Given the description of an element on the screen output the (x, y) to click on. 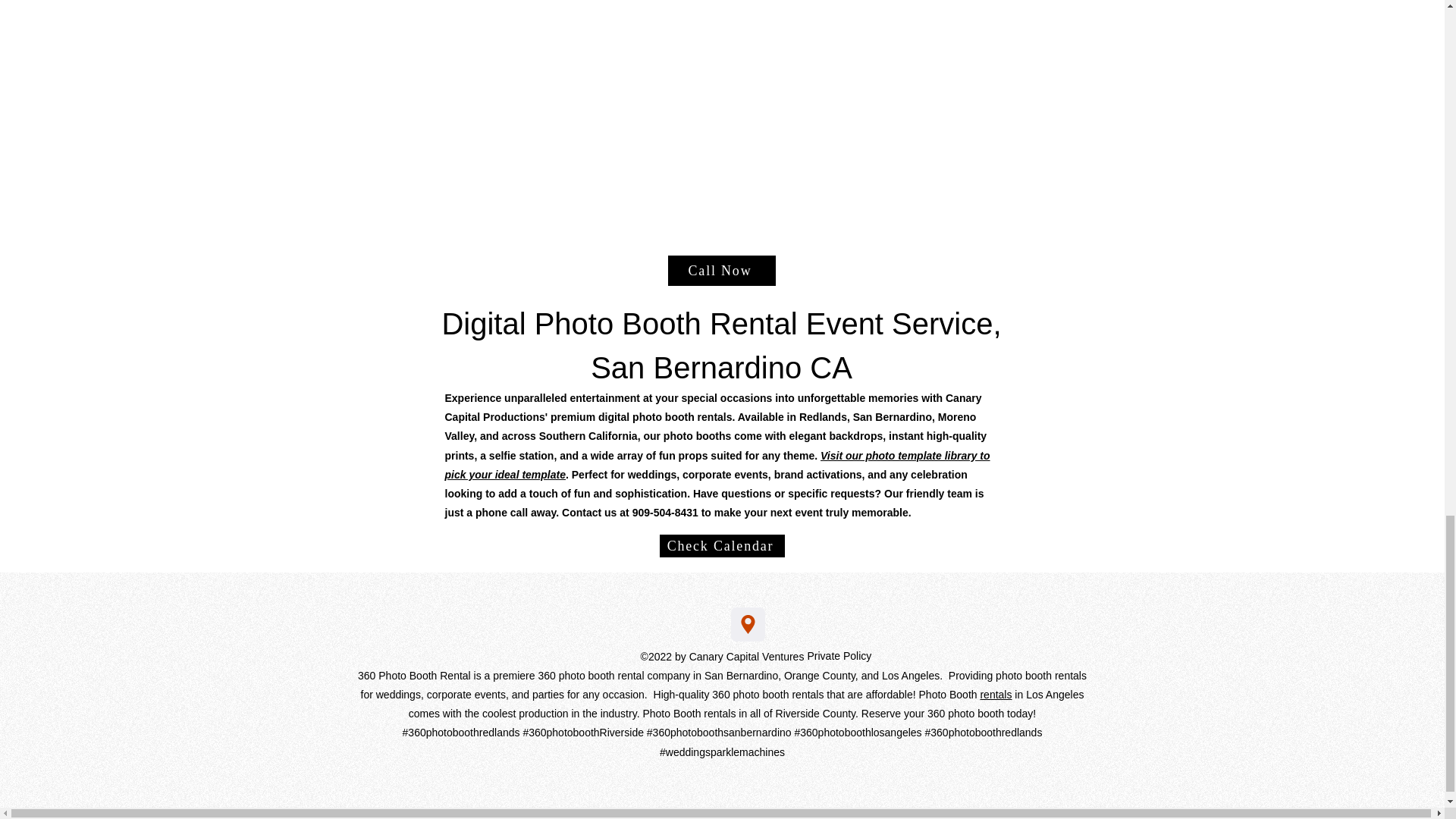
Check Calendar (721, 545)
Digital Photo Booth Rental Event Service, San Bernardino CA (721, 345)
rentals (995, 694)
Visit our photo template library to pick your ideal template (717, 464)
Call Now (720, 270)
